Given the description of an element on the screen output the (x, y) to click on. 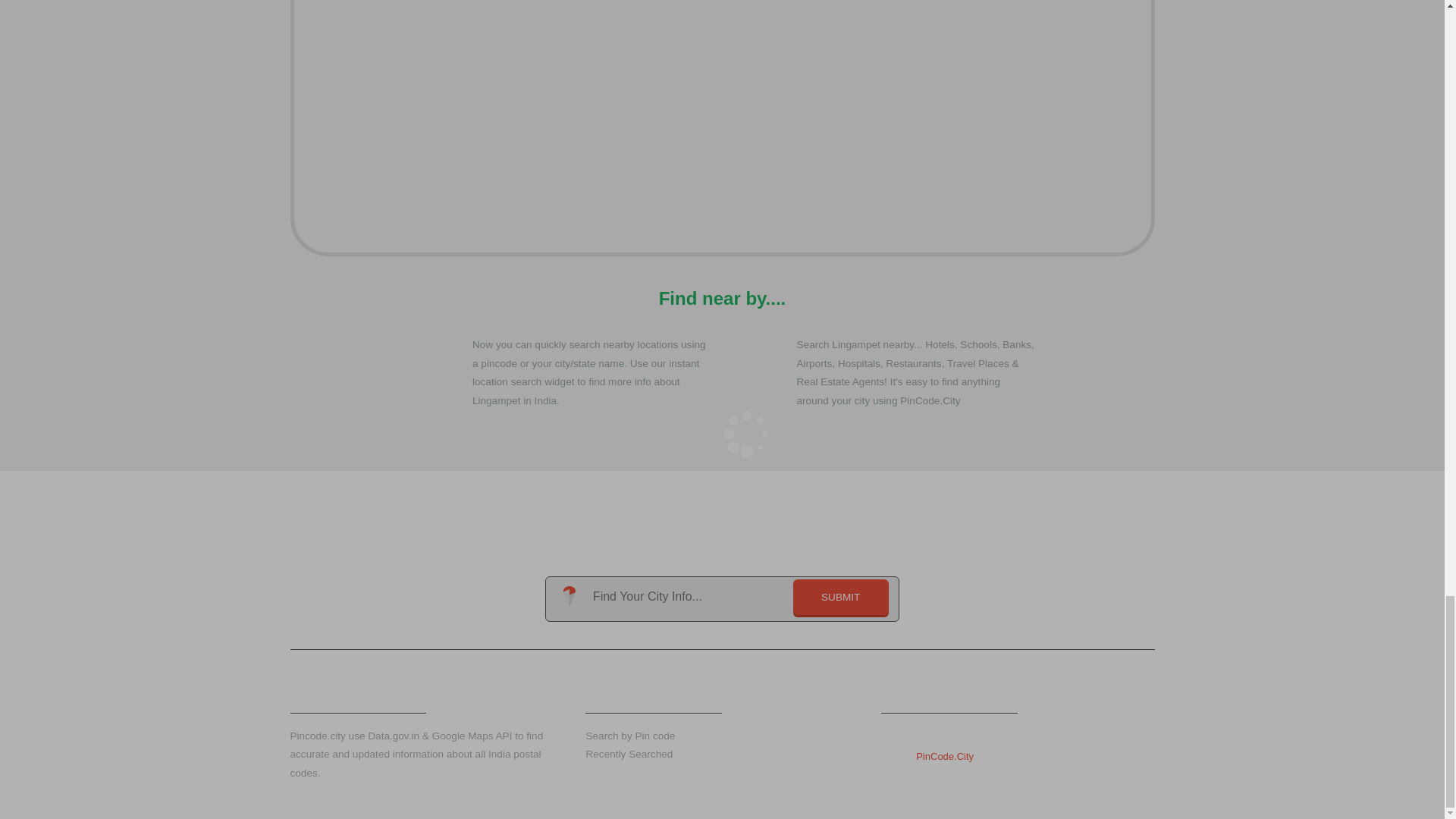
submit (840, 596)
Search by Pin code (630, 736)
submit (840, 596)
